Given the description of an element on the screen output the (x, y) to click on. 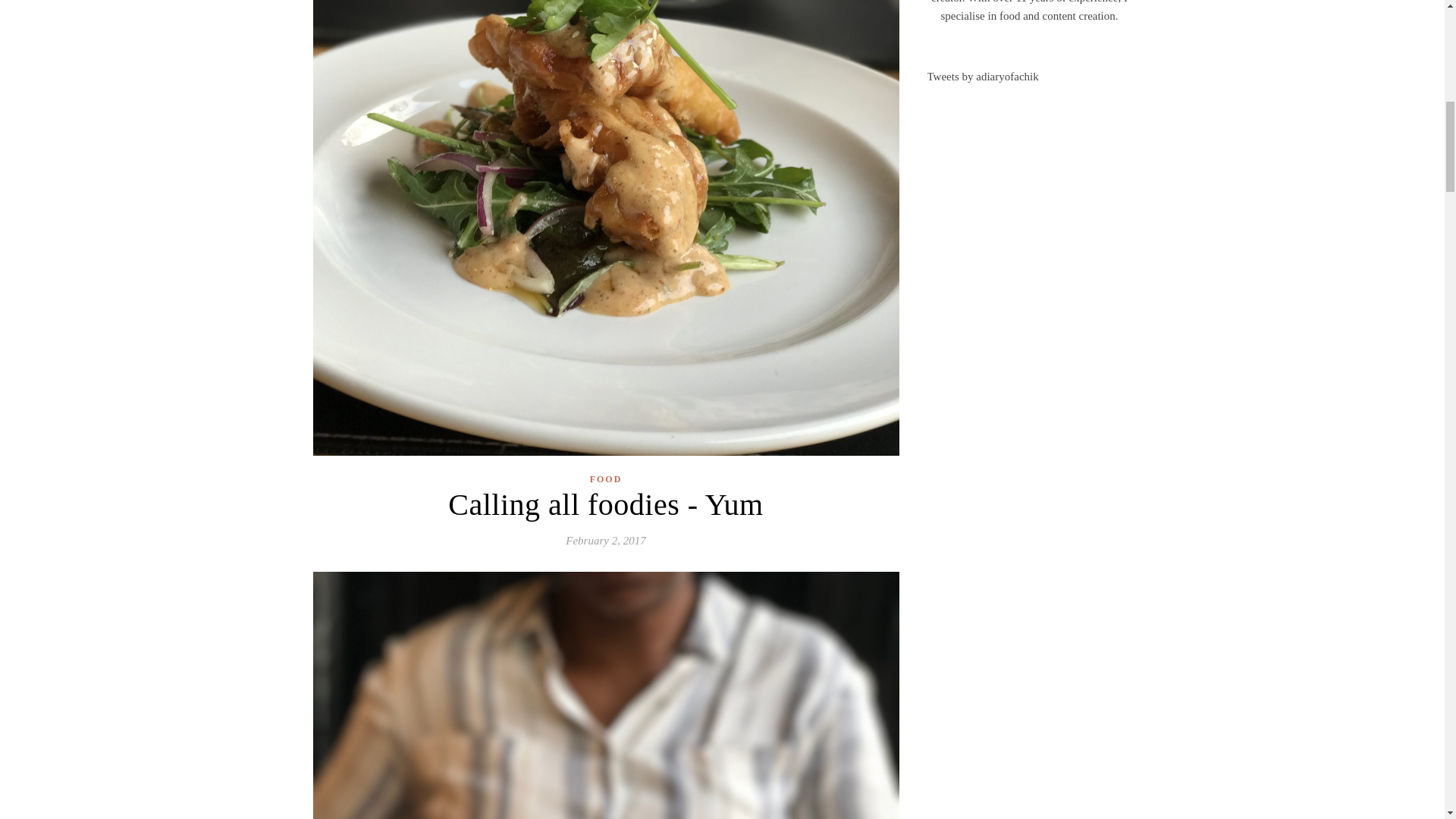
FOOD (606, 479)
